Given the description of an element on the screen output the (x, y) to click on. 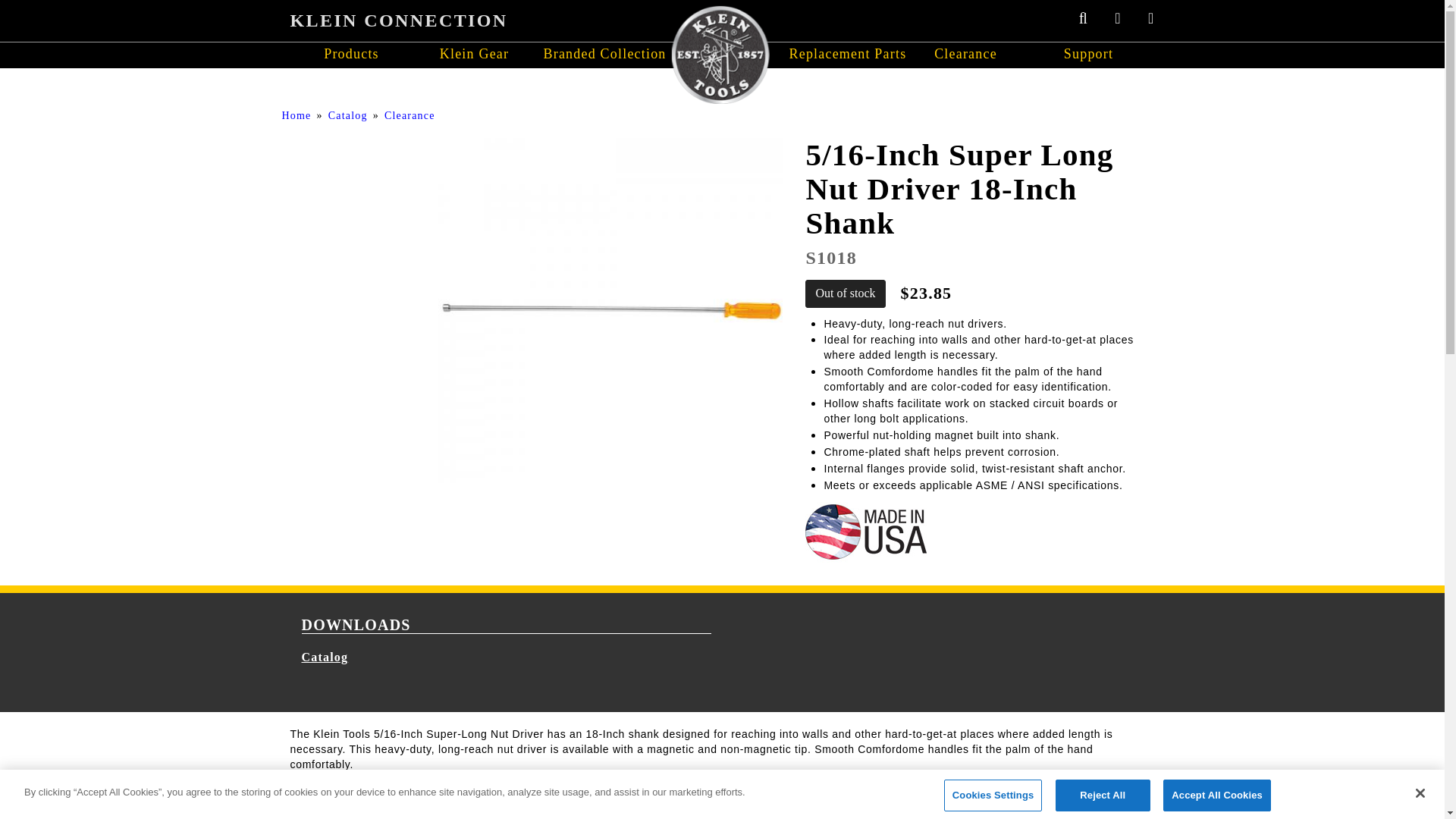
Support (1087, 54)
Search (913, 115)
Branded Collection (596, 54)
Branded Collection (596, 54)
Support (1087, 54)
Catalog (348, 115)
Clearance (409, 115)
Products (350, 54)
click to return to home page (397, 20)
Clearance (965, 54)
